Given the description of an element on the screen output the (x, y) to click on. 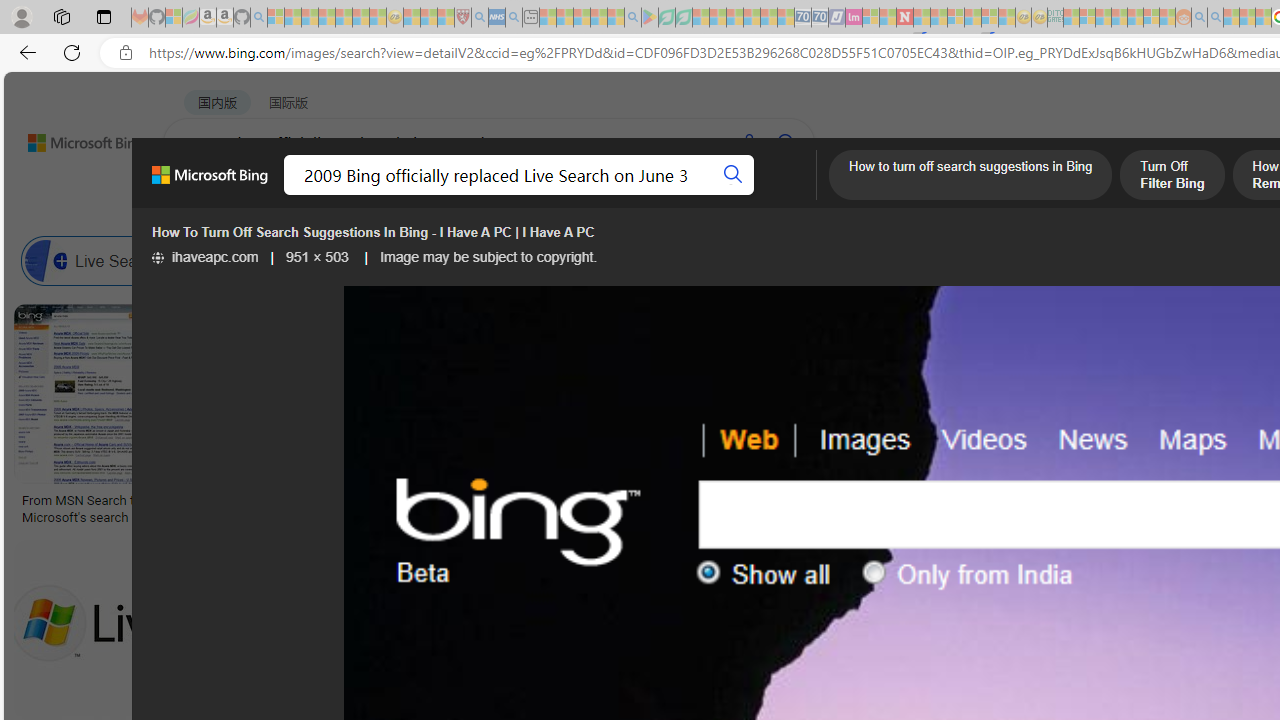
Search using voice (748, 142)
DICT (717, 195)
Robert H. Shmerling, MD - Harvard Health - Sleeping (462, 17)
Bing Voice Search (213, 260)
Kinda Frugal - MSN - Sleeping (1135, 17)
Class: b_pri_nav_svg (423, 196)
